Given the description of an element on the screen output the (x, y) to click on. 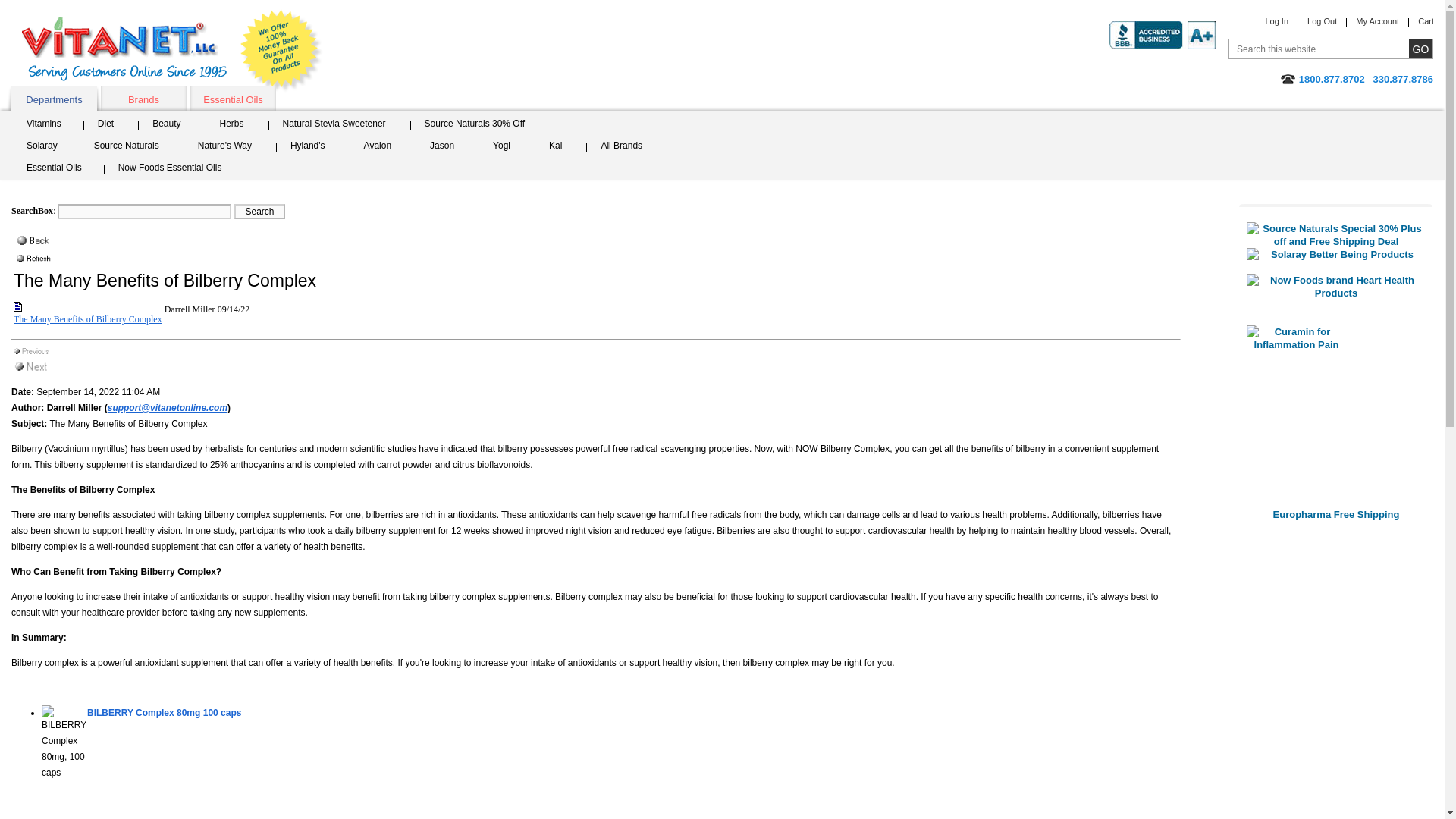
BILBERRY Complex 80mg 100 caps (164, 712)
curcumin for inflammation pain (1335, 415)
Herbs (236, 125)
go (1420, 48)
Beauty (171, 125)
Jason (446, 147)
Log In (1276, 20)
Nature's Way (229, 147)
Now Foods Essential Oils (175, 169)
Yogi (507, 147)
